Given the description of an element on the screen output the (x, y) to click on. 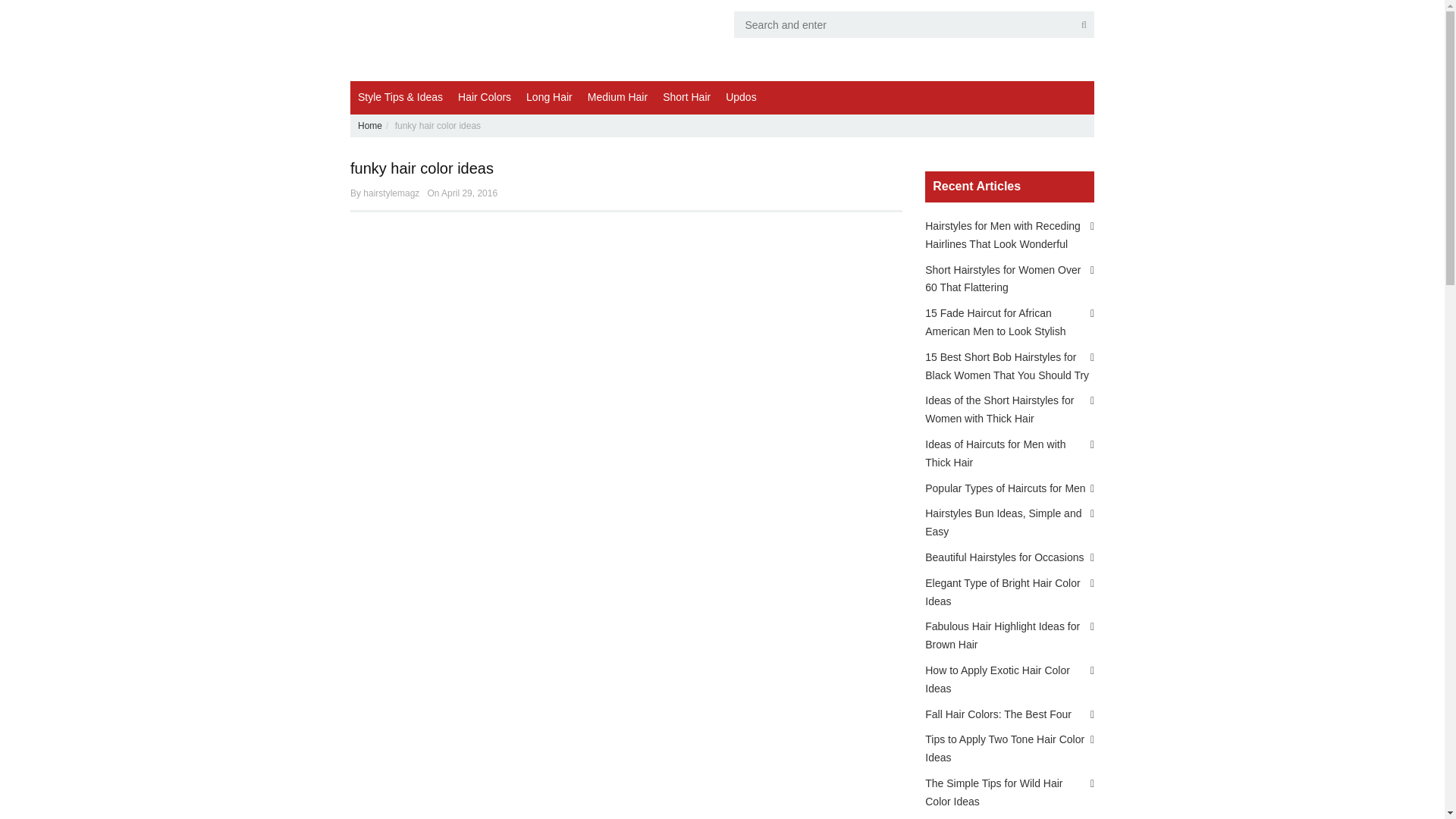
Updos (739, 97)
Long Hair (548, 97)
Hair Colors (483, 97)
Home (369, 125)
April 29, 2016 (469, 193)
Medium Hair (617, 97)
View all posts by hairstylemagz (390, 193)
8:49 am (469, 193)
Hairstyle Magazine (460, 40)
hairstylemagz (390, 193)
Short Hair (686, 97)
